Given the description of an element on the screen output the (x, y) to click on. 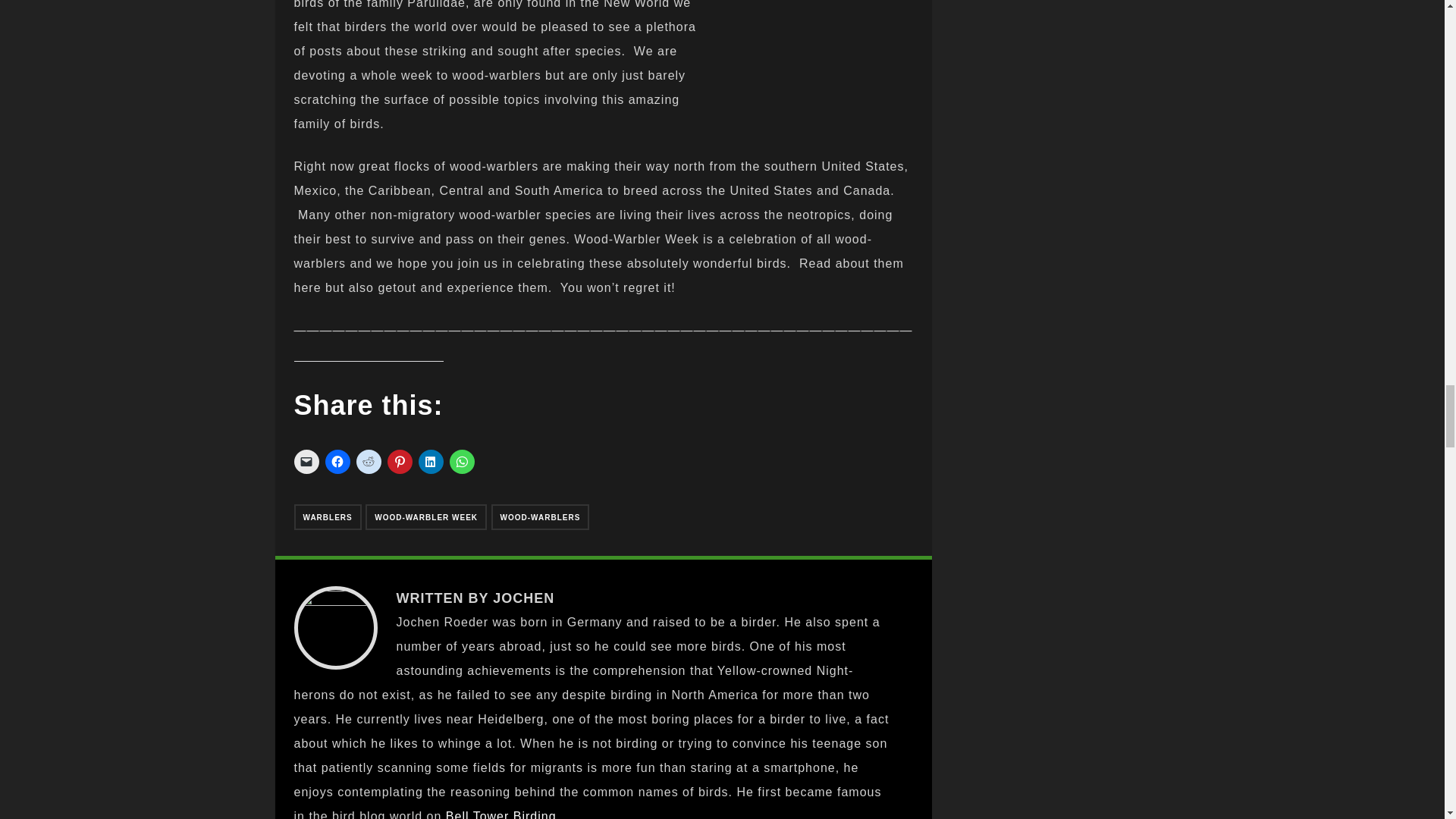
Click to share on WhatsApp (461, 461)
Click to share on Reddit (368, 461)
Click to share on Facebook (336, 461)
Click to share on Pinterest (399, 461)
Click to email a link to a friend (306, 461)
WARBLERS (327, 516)
Click to share on LinkedIn (431, 461)
